Given the description of an element on the screen output the (x, y) to click on. 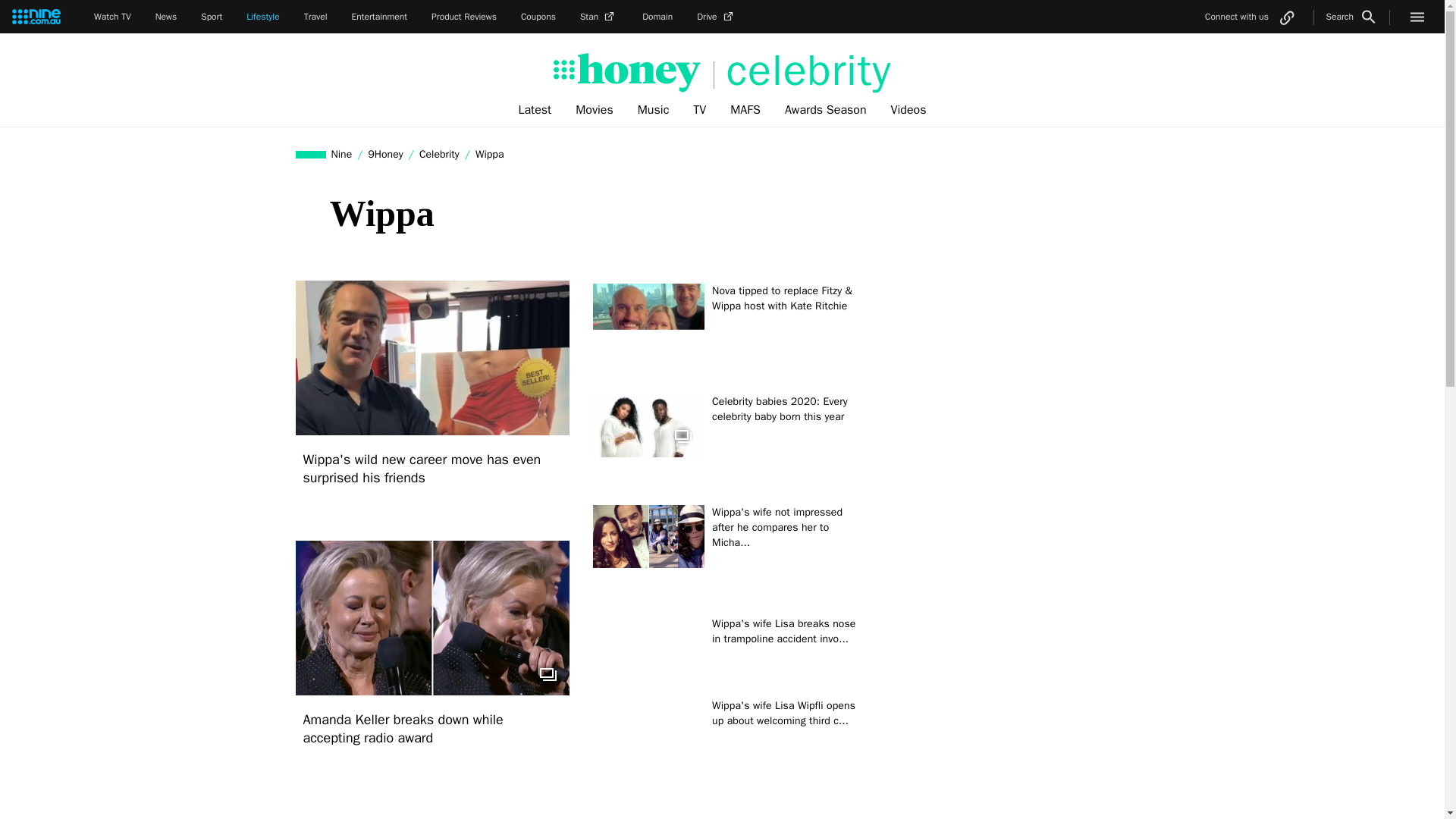
Amanda Keller breaks down while accepting radio award (432, 728)
Stan (598, 16)
Coupons (538, 16)
MAFS (745, 109)
Domain (657, 16)
9Honey (384, 154)
Lifestyle (262, 16)
Wippa's wild new career move has even surprised his friends (432, 468)
Celebrity babies 2020: Every celebrity baby born this year (789, 427)
Product Reviews (463, 16)
